Given the description of an element on the screen output the (x, y) to click on. 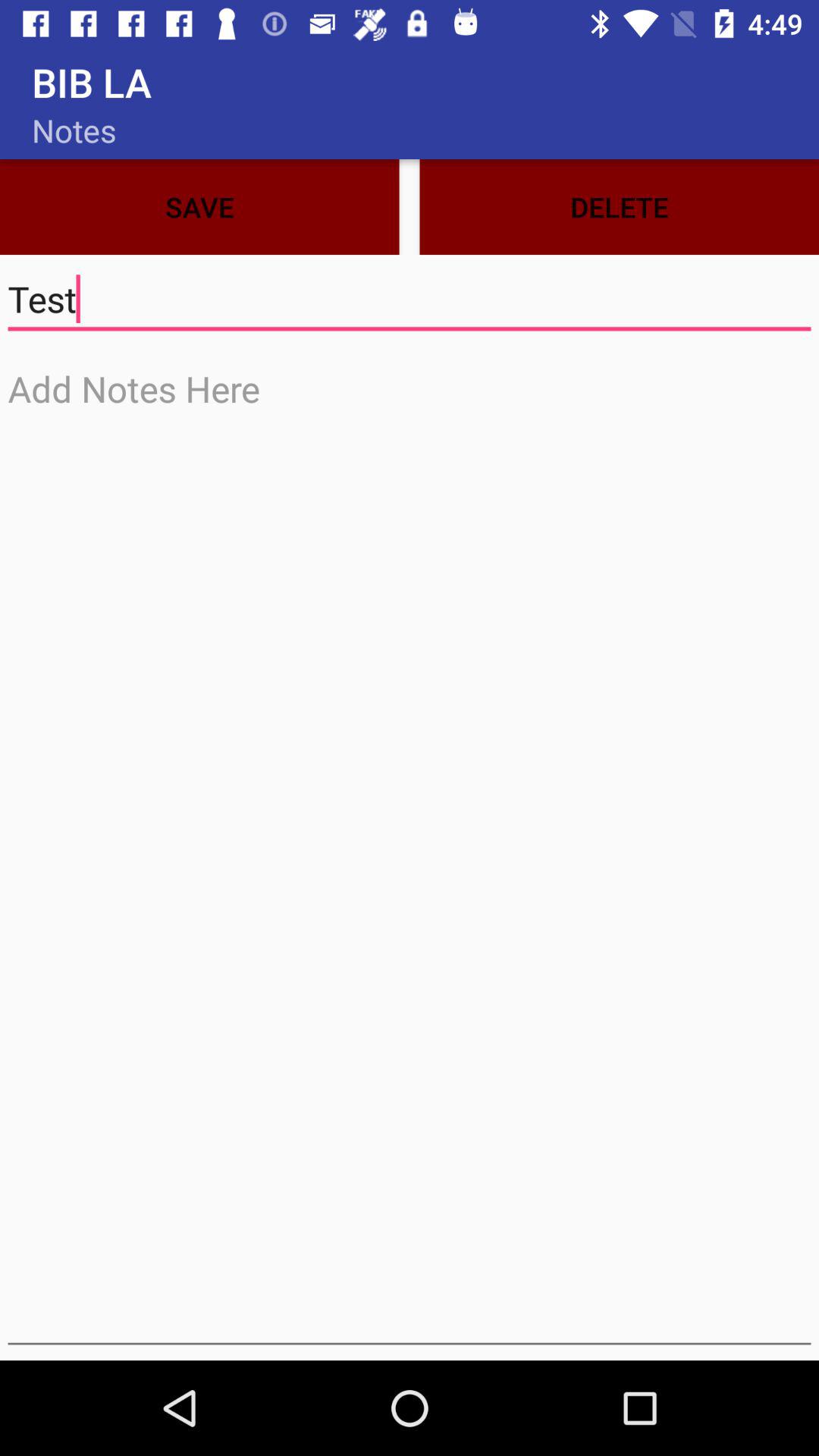
click icon next to the save icon (619, 206)
